Given the description of an element on the screen output the (x, y) to click on. 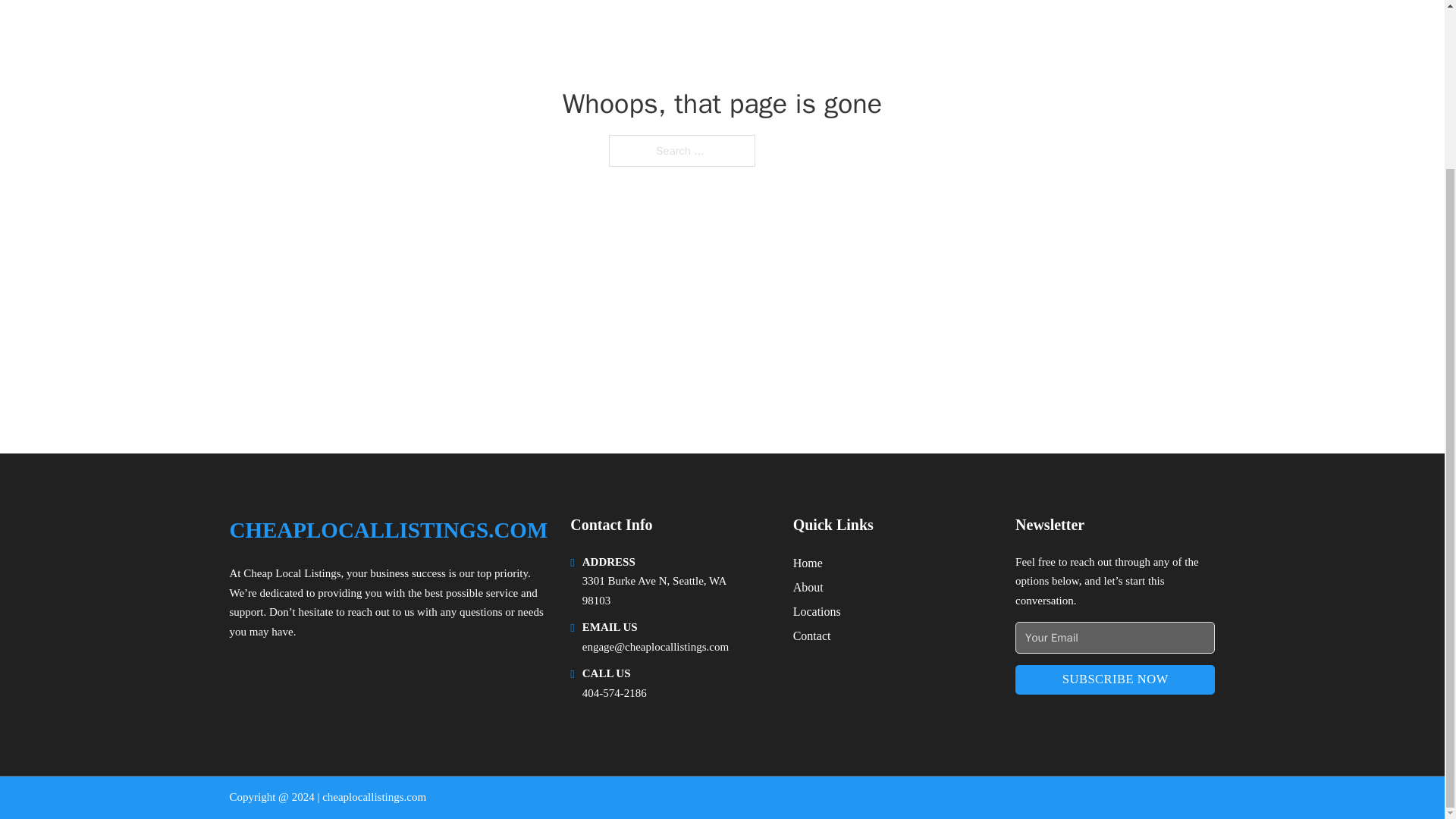
About (808, 587)
Locations (817, 611)
CHEAPLOCALLISTINGS.COM (387, 529)
SUBSCRIBE NOW (1114, 679)
404-574-2186 (614, 693)
Home (807, 562)
Contact (812, 635)
